Given the description of an element on the screen output the (x, y) to click on. 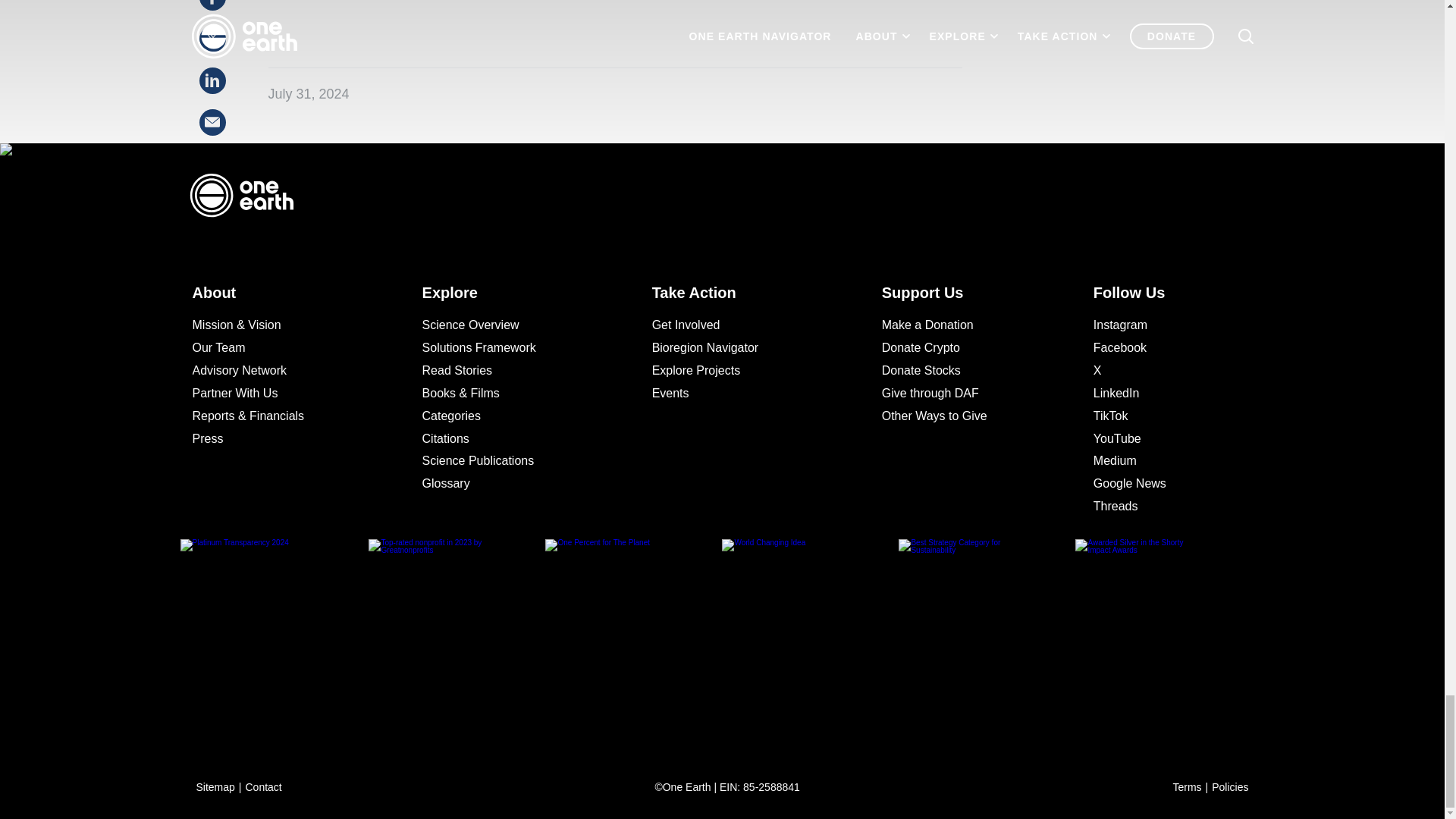
Top-rated nonprofit in 2023 by Greatnonprofits (456, 633)
Follow us on Threads (1163, 506)
Google News (1163, 483)
Follow us on Medium (1163, 460)
Follow us on LinkedIn (1163, 393)
One Percent for The Planet (633, 633)
Follow us on Instagram (1163, 324)
Platinum Transparency 2024 (280, 633)
Follow us on TikTok (1163, 415)
Best Strategy Category for Sustainability (986, 633)
